Given the description of an element on the screen output the (x, y) to click on. 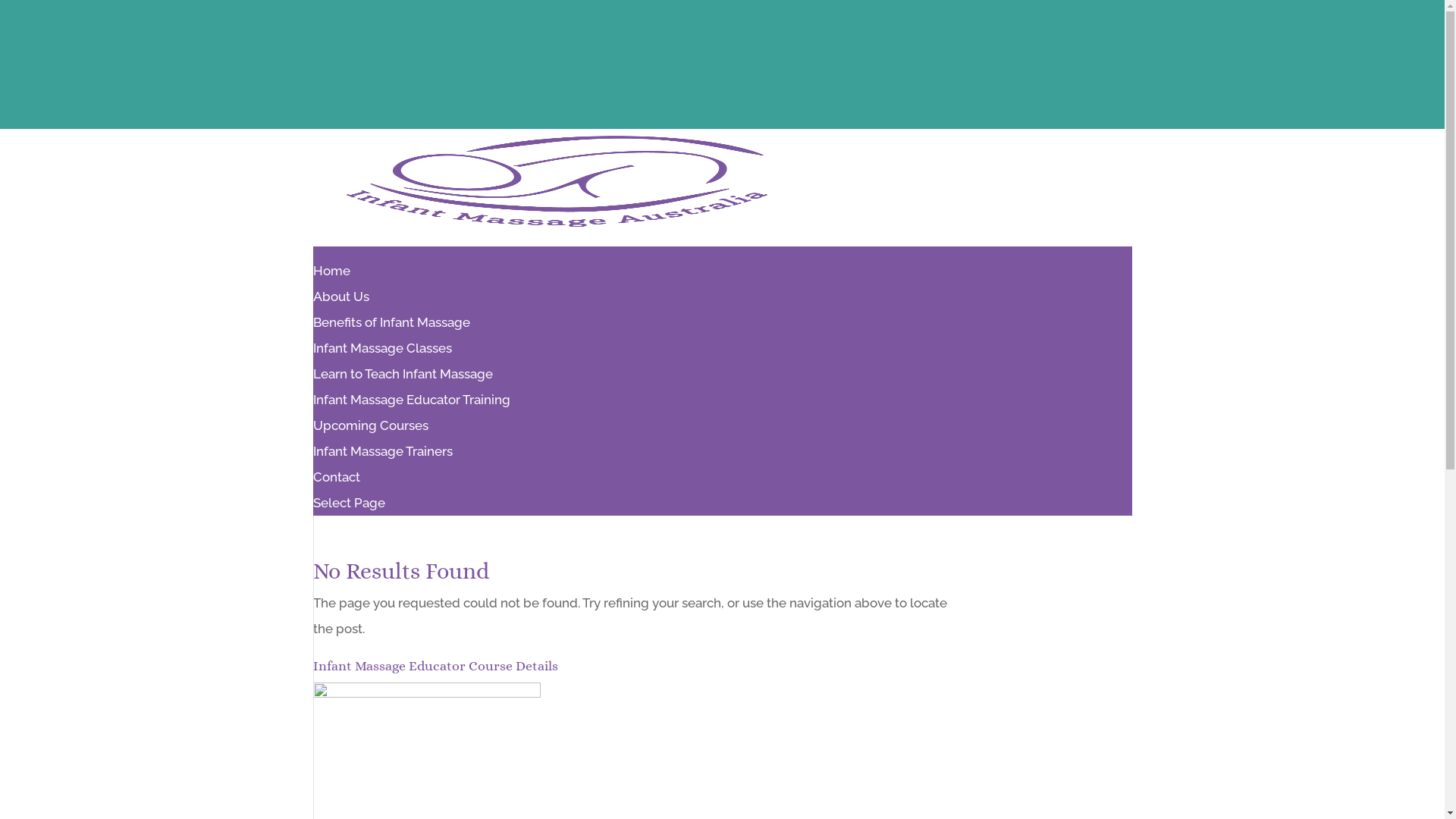
Facebook Element type: text (344, 12)
Infant Massage Educator Training Element type: text (410, 399)
0 Items Element type: text (333, 115)
Membership Info Element type: text (359, 63)
Member Login Element type: text (353, 89)
Upcoming Courses Element type: text (369, 425)
Infant Massage Classes Element type: text (381, 355)
About Us Element type: text (340, 303)
Infant Massage Trainers Element type: text (381, 450)
Instagram Element type: text (344, 38)
Home Element type: text (330, 278)
Contact Element type: text (335, 484)
Benefits of Infant Massage Element type: text (390, 329)
Learn to Teach Infant Massage Element type: text (402, 381)
